Given the description of an element on the screen output the (x, y) to click on. 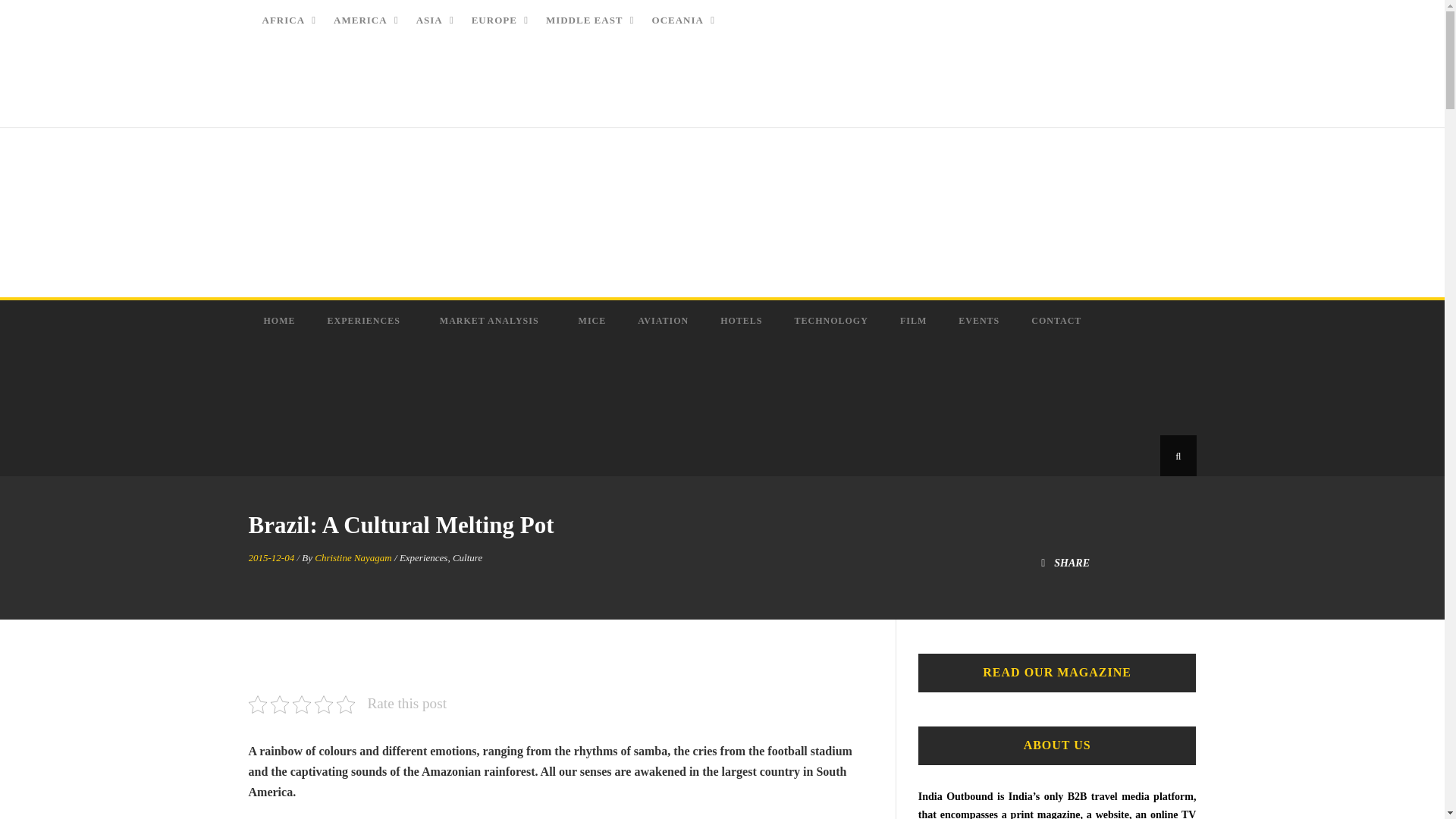
AMERICA (361, 20)
Indiaoutbound (340, 209)
Posts by Christine Nayagam (352, 557)
AFRICA (284, 20)
ASIA (430, 20)
